Given the description of an element on the screen output the (x, y) to click on. 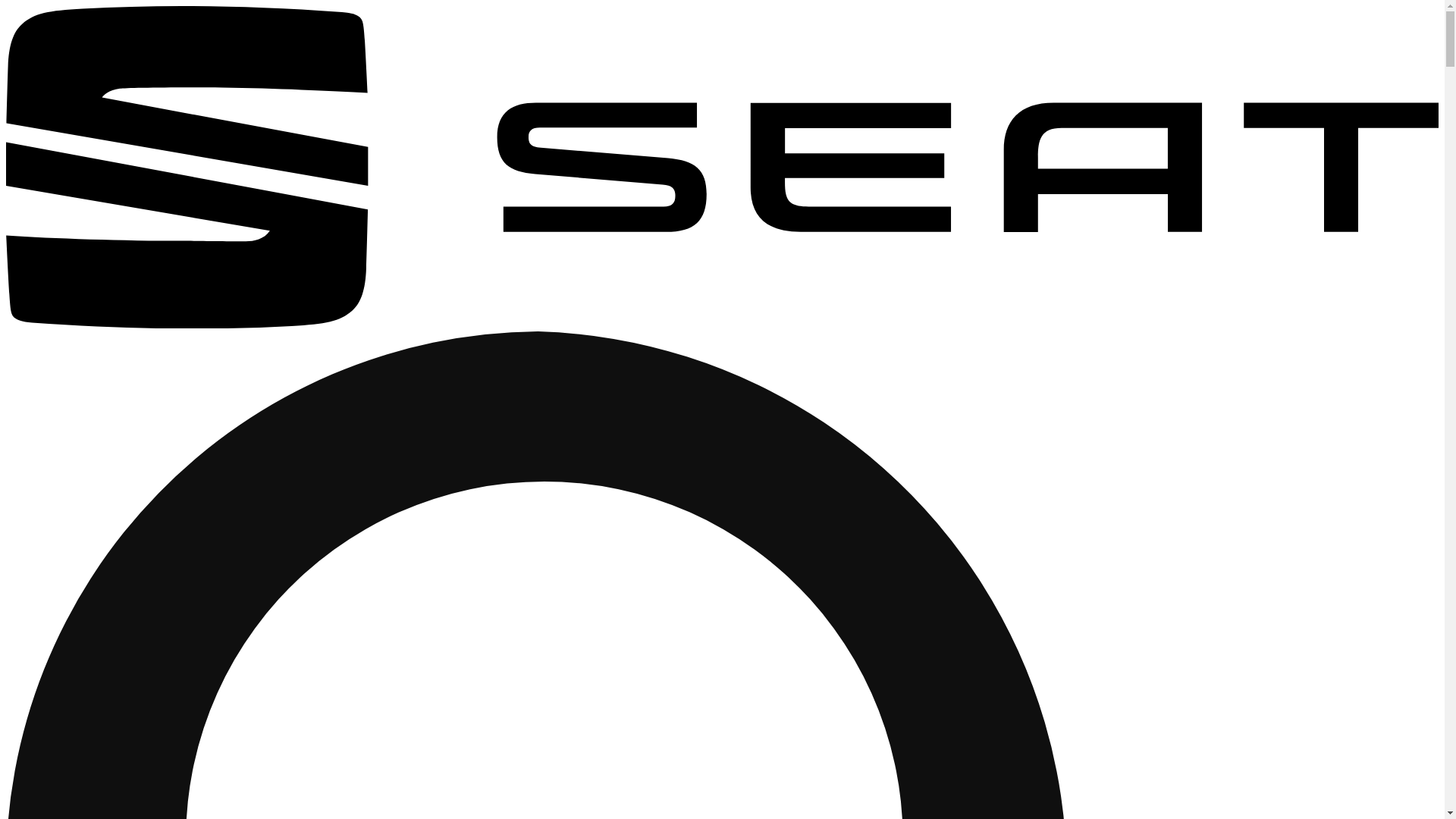
SEAT Logo Element type: text (722, 323)
